Given the description of an element on the screen output the (x, y) to click on. 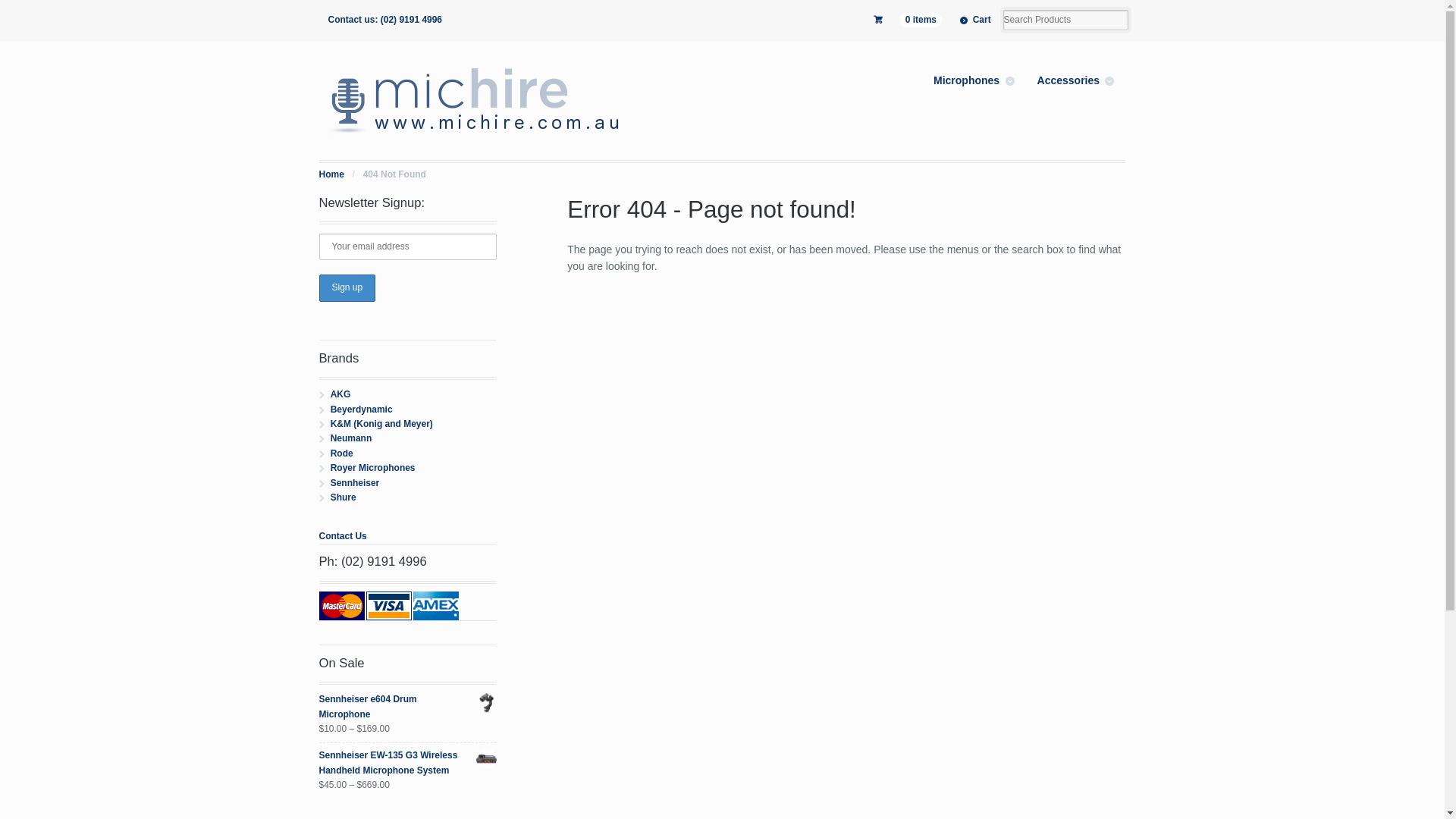
Accessories Element type: text (1076, 80)
Search Element type: text (62, 10)
AKG Element type: text (340, 394)
Beyerdynamic Element type: text (361, 409)
Sign up Element type: text (347, 287)
Rode Element type: text (341, 453)
Shure Element type: text (343, 497)
Royer Microphones Element type: text (372, 467)
Sennheiser Element type: text (354, 482)
Sennheiser EW-135 G3 Wireless Handheld Microphone System Element type: text (408, 763)
K&M (Konig and Meyer) Element type: text (381, 423)
Neumann Element type: text (351, 438)
Microphones Element type: text (974, 80)
Sennheiser e604 Drum Microphone Element type: text (408, 706)
Home Element type: text (331, 174)
0 items Element type: text (907, 20)
Cart Element type: text (974, 20)
Contact us: (02) 9191 4996 Element type: text (385, 20)
Contact Us Element type: text (343, 535)
